Given the description of an element on the screen output the (x, y) to click on. 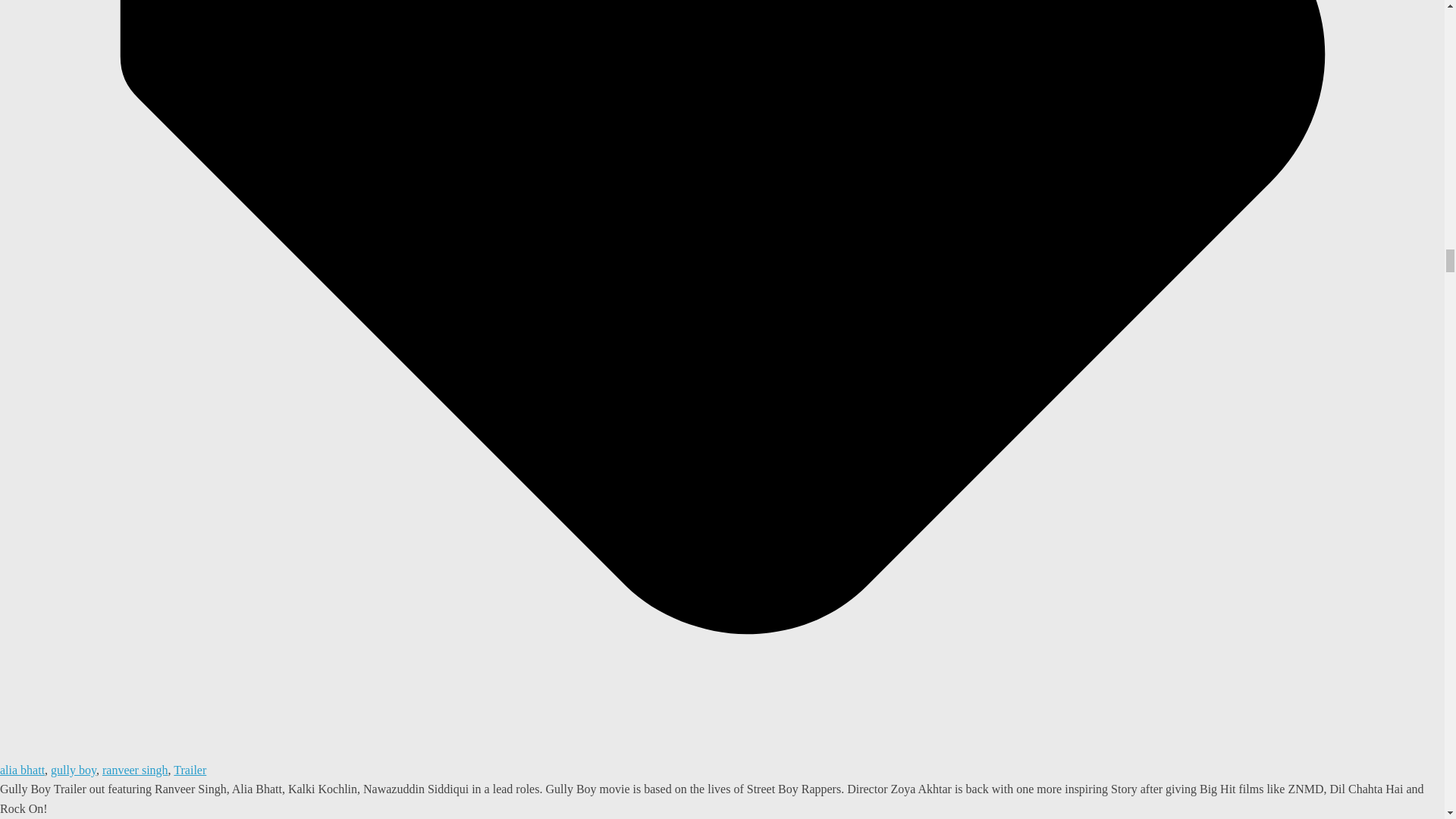
alia bhatt (22, 769)
Trailer (189, 769)
gully boy (73, 769)
ranveer singh (134, 769)
